Given the description of an element on the screen output the (x, y) to click on. 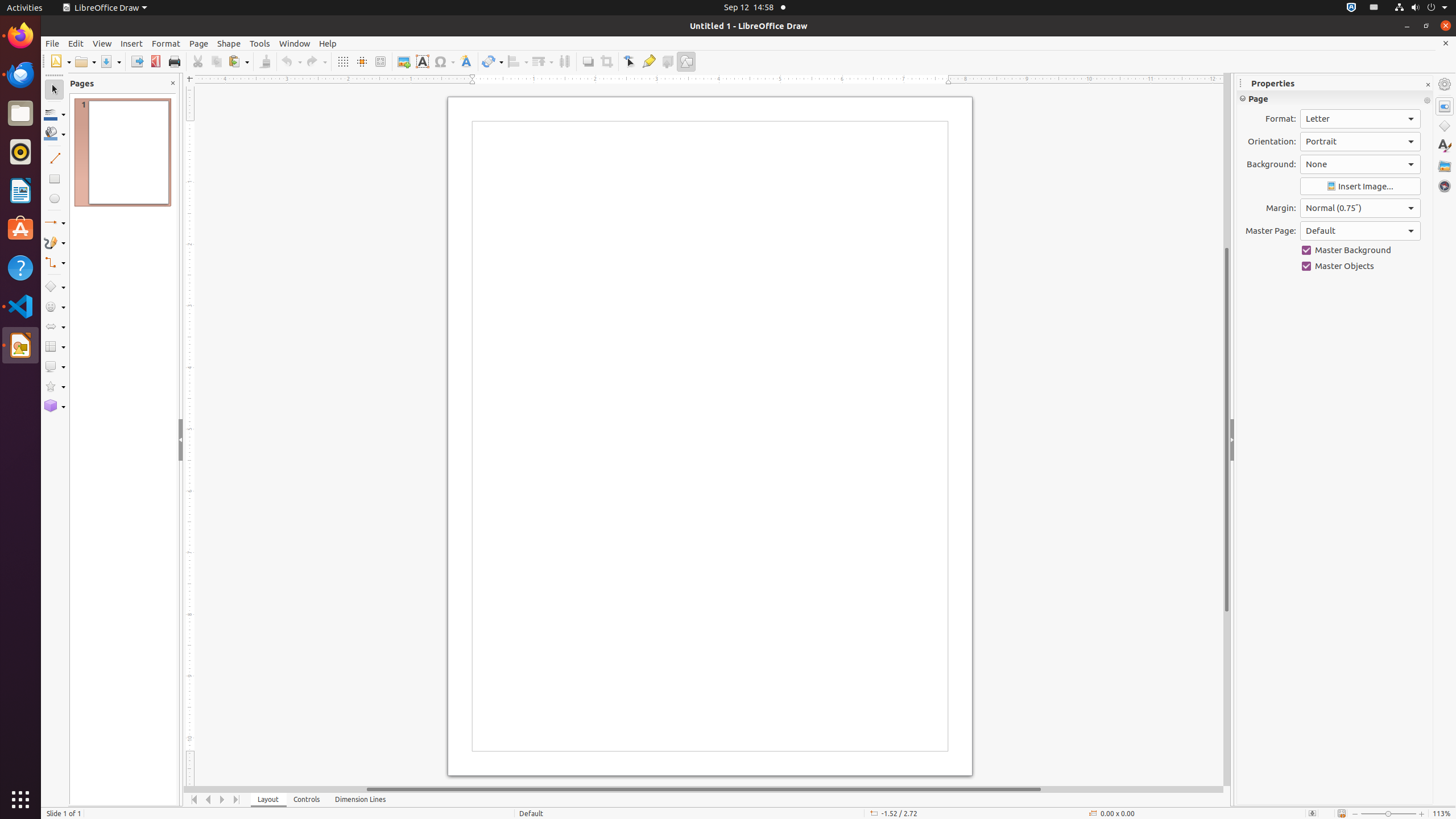
Thunderbird Mail Element type: push-button (20, 74)
View Element type: menu (102, 43)
Shapes Element type: radio-button (1444, 126)
:1.21/StatusNotifierItem Element type: menu (1373, 7)
Ellipse Element type: push-button (53, 198)
